Given the description of an element on the screen output the (x, y) to click on. 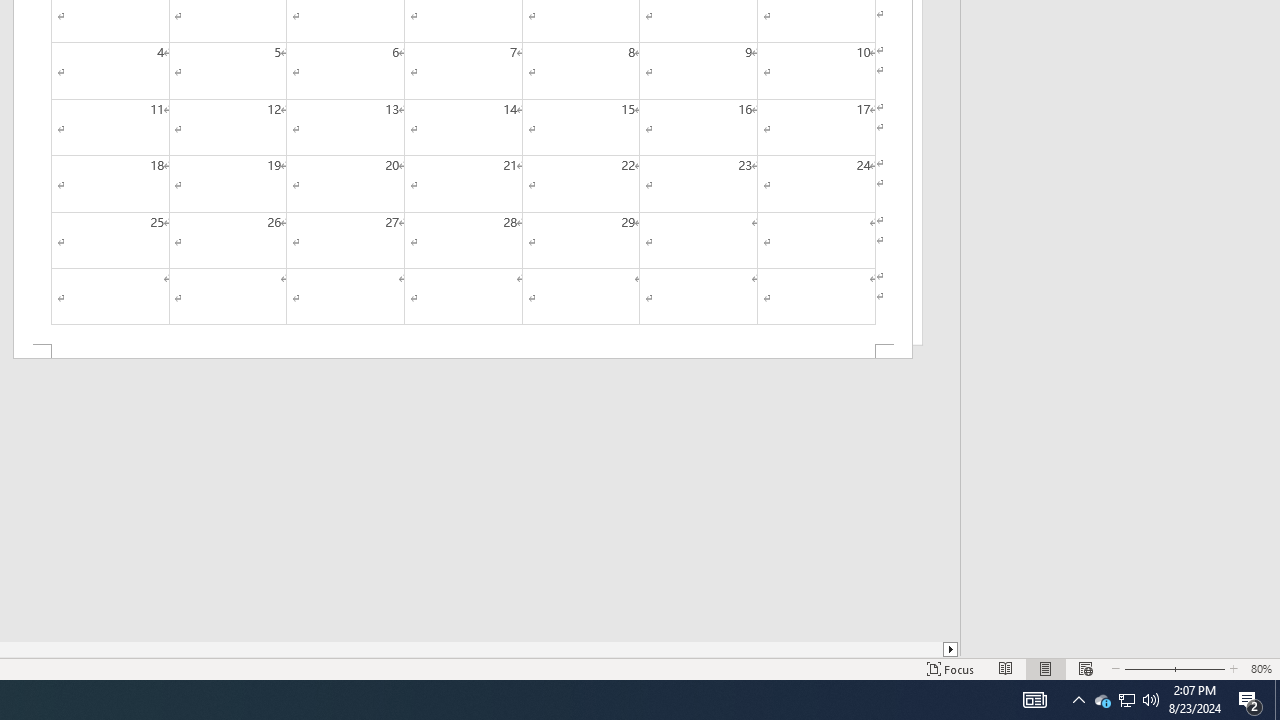
Footer -Section 2- (462, 351)
Column right (951, 649)
